Given the description of an element on the screen output the (x, y) to click on. 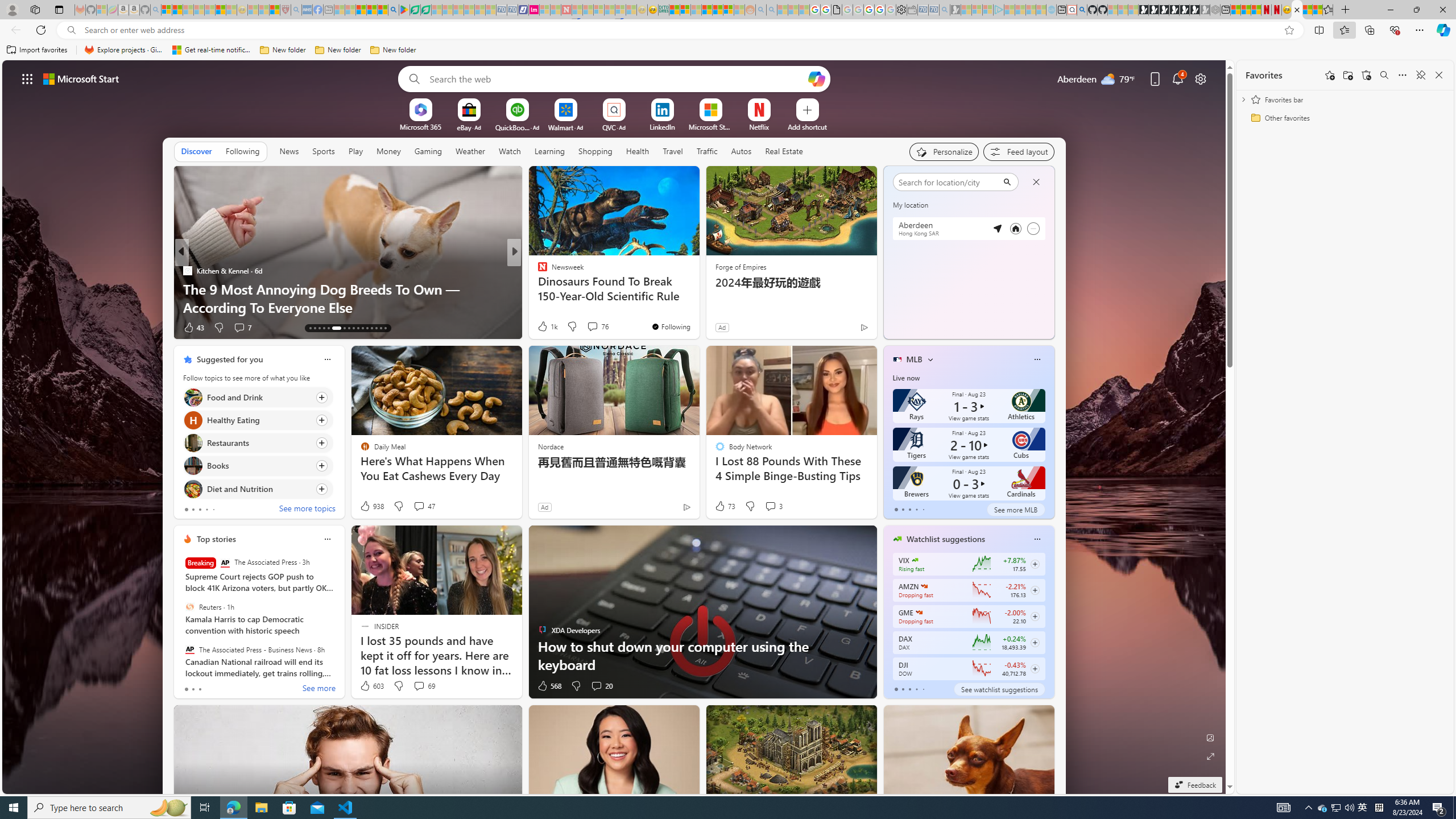
AutomationID: tab-19 (340, 328)
AMAZON.COM, INC. (923, 586)
App launcher (27, 78)
The Register (537, 270)
Hide this story (664, 179)
